Given the description of an element on the screen output the (x, y) to click on. 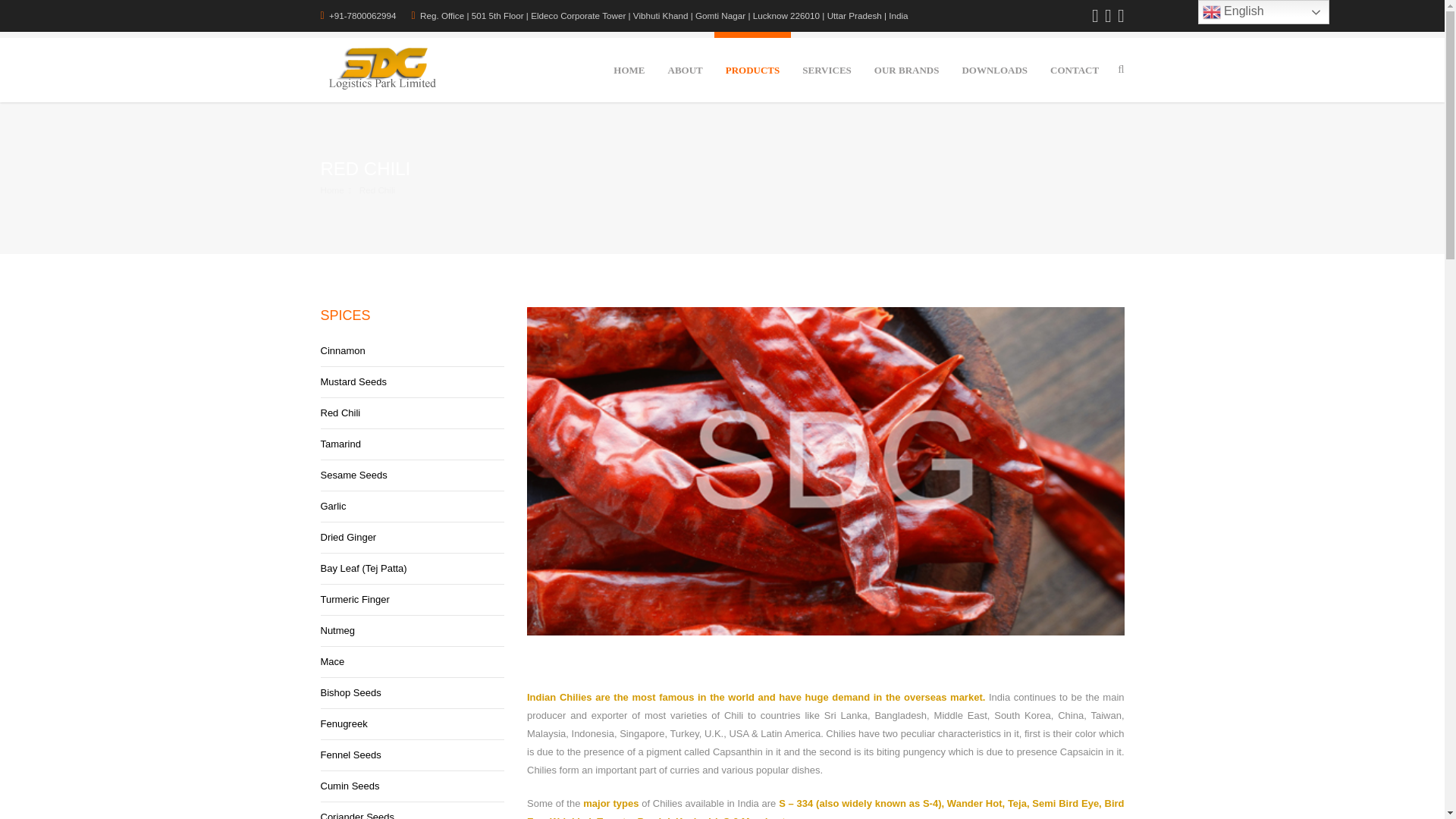
PRODUCTS (753, 66)
